Given the description of an element on the screen output the (x, y) to click on. 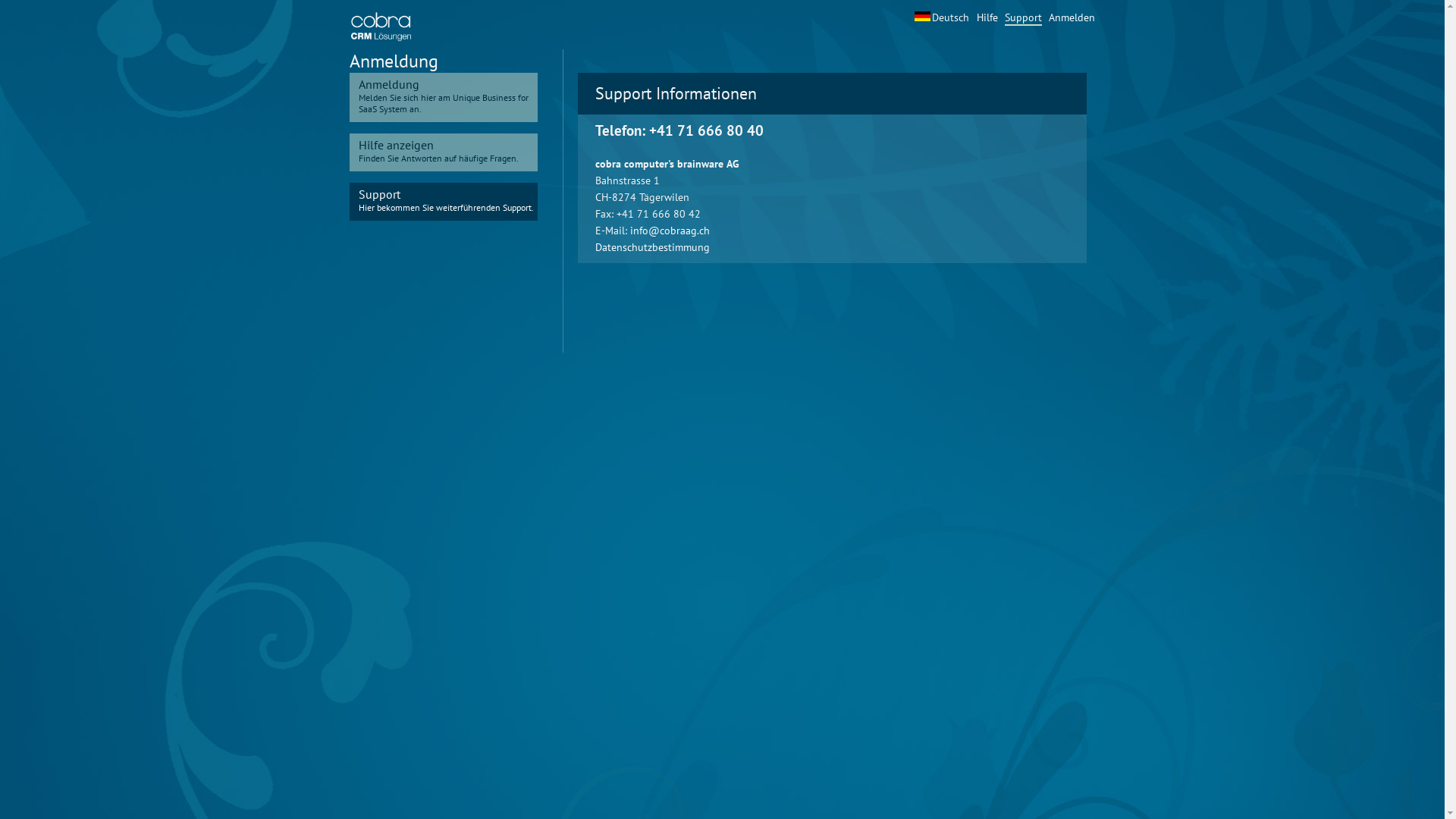
Anmelden Element type: text (1071, 17)
Datenschutzbestimmung Element type: text (651, 247)
info@cobraag.ch Element type: text (669, 230)
Hilfe Element type: text (986, 17)
Support Element type: text (1022, 17)
